Given the description of an element on the screen output the (x, y) to click on. 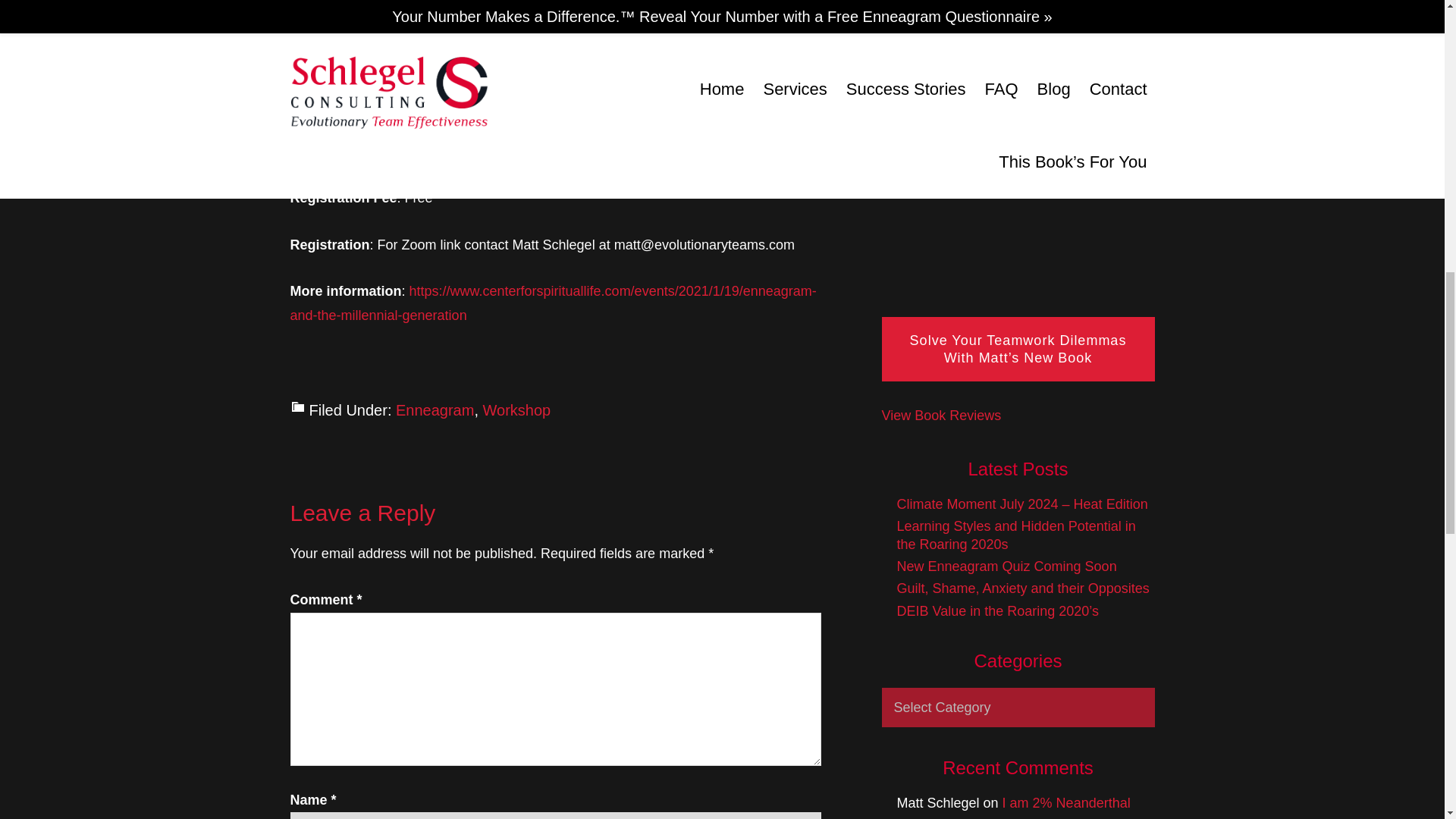
Learning Styles and Hidden Potential in the Roaring 2020s (1015, 534)
Enneagram (435, 410)
Guilt, Shame, Anxiety and their Opposites (1022, 588)
View Book Reviews (940, 415)
Workshop (517, 410)
New Enneagram Quiz Coming Soon (1006, 566)
Subscribe (1017, 51)
Subscribe (1017, 51)
